Given the description of an element on the screen output the (x, y) to click on. 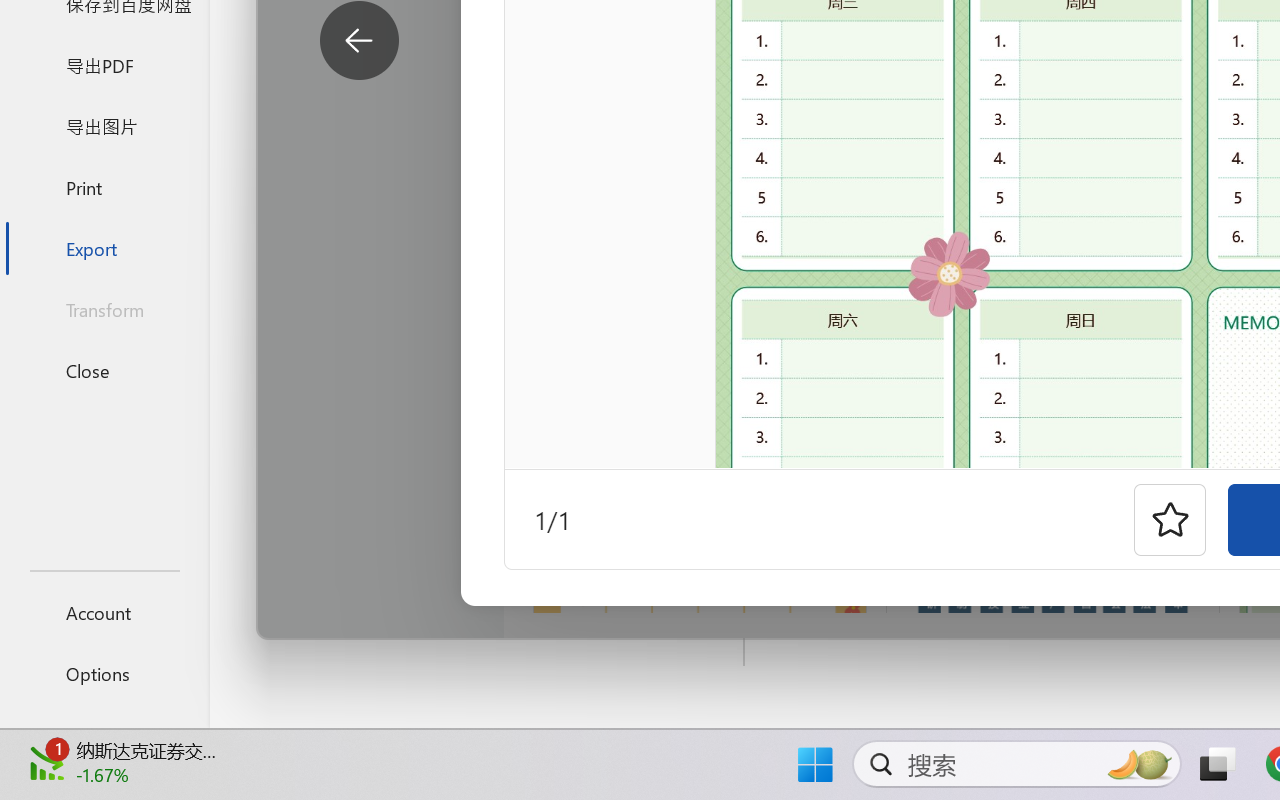
Export (104, 248)
Print (104, 186)
Options (104, 673)
Account (104, 612)
Transform (104, 309)
